Given the description of an element on the screen output the (x, y) to click on. 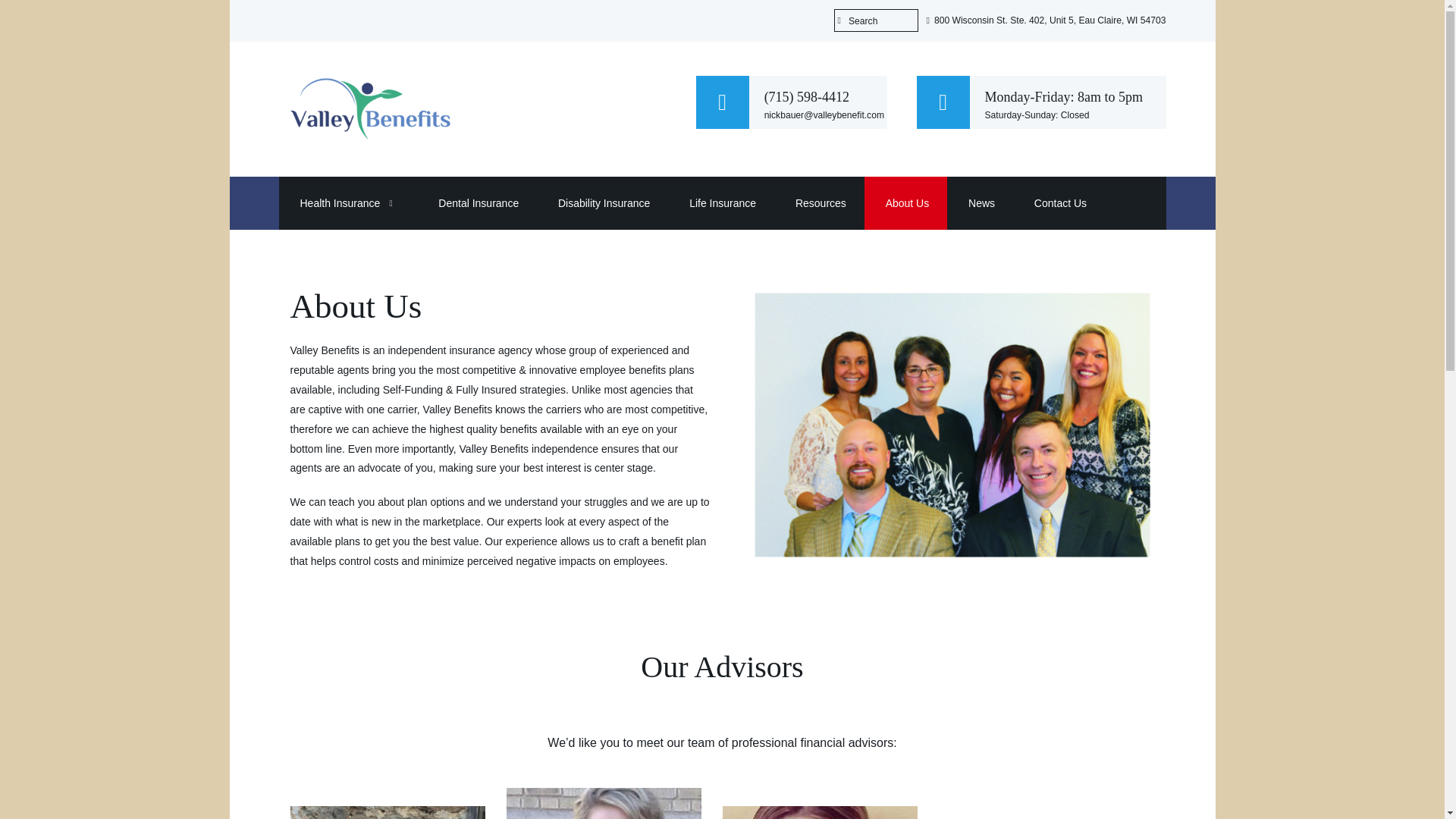
Disability Insurance (602, 203)
About Us (905, 203)
Health Insurance (338, 203)
Life Insurance (720, 203)
Resources (818, 203)
Contact Us (1058, 203)
Dental Insurance (476, 203)
Health Insurance (338, 203)
